Given the description of an element on the screen output the (x, y) to click on. 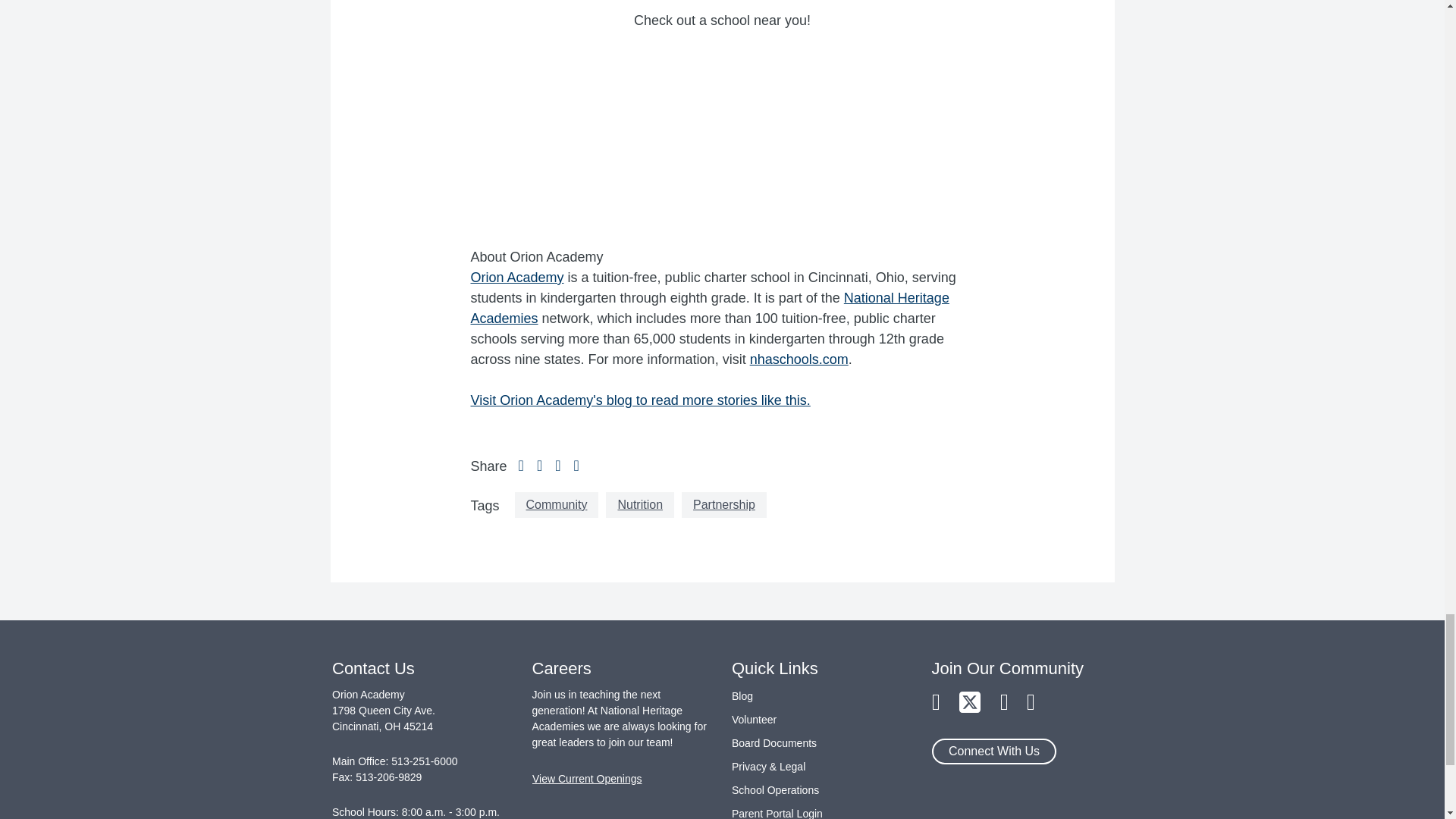
advertisement (721, 125)
